Given the description of an element on the screen output the (x, y) to click on. 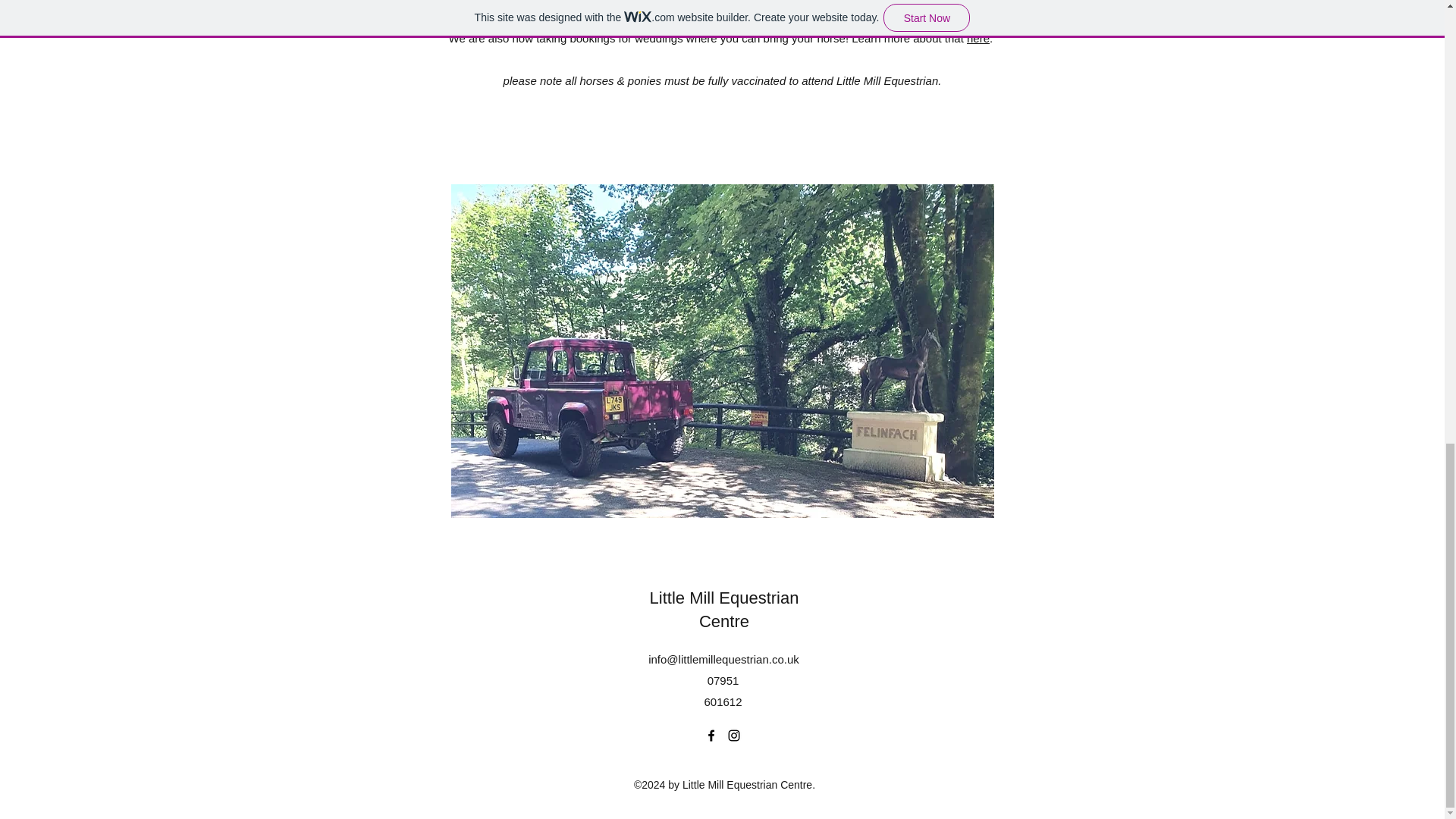
Little Mill Equestrian Centre (724, 609)
here (978, 38)
